Given the description of an element on the screen output the (x, y) to click on. 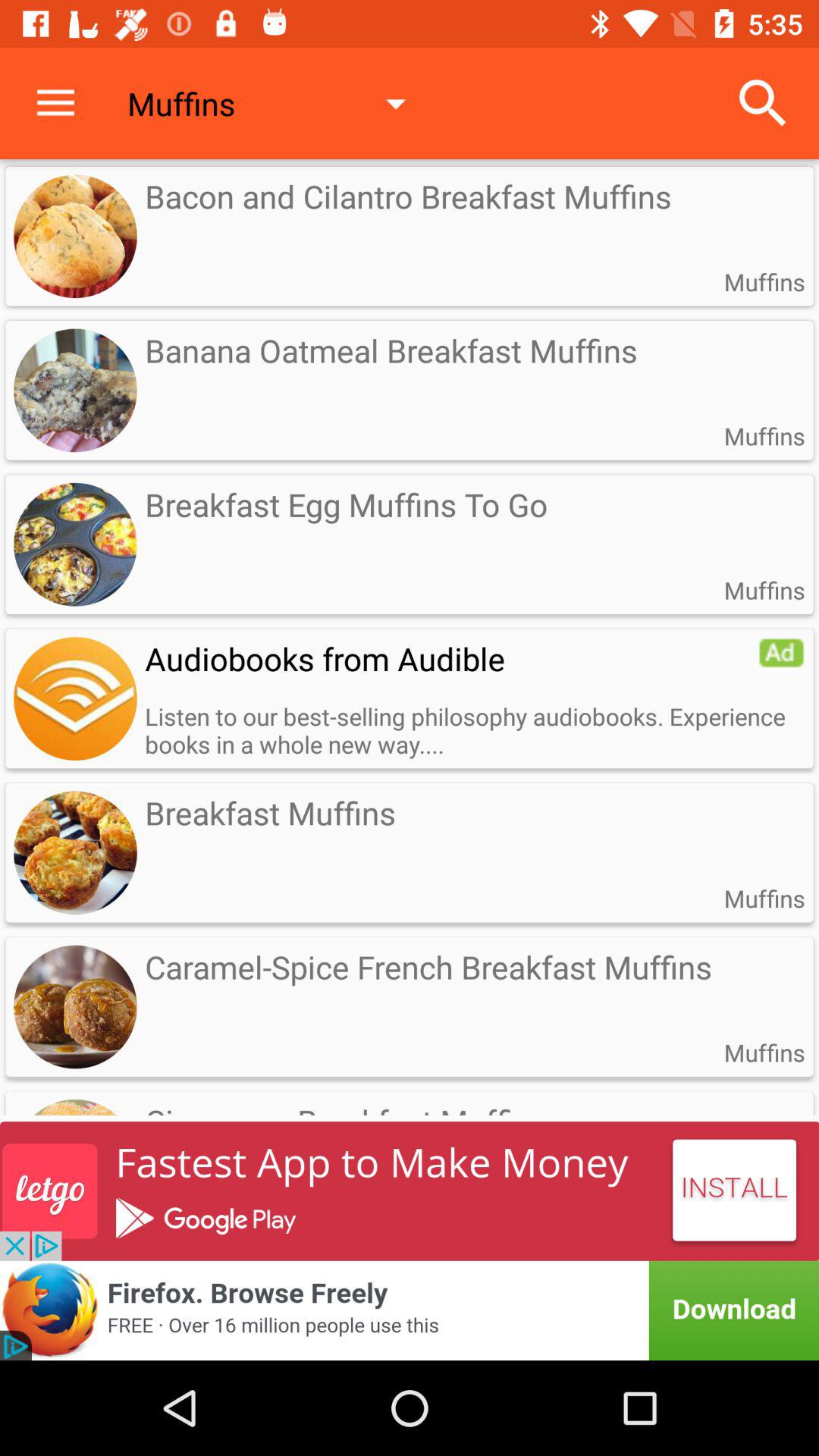
click audible advertisement (781, 652)
